Given the description of an element on the screen output the (x, y) to click on. 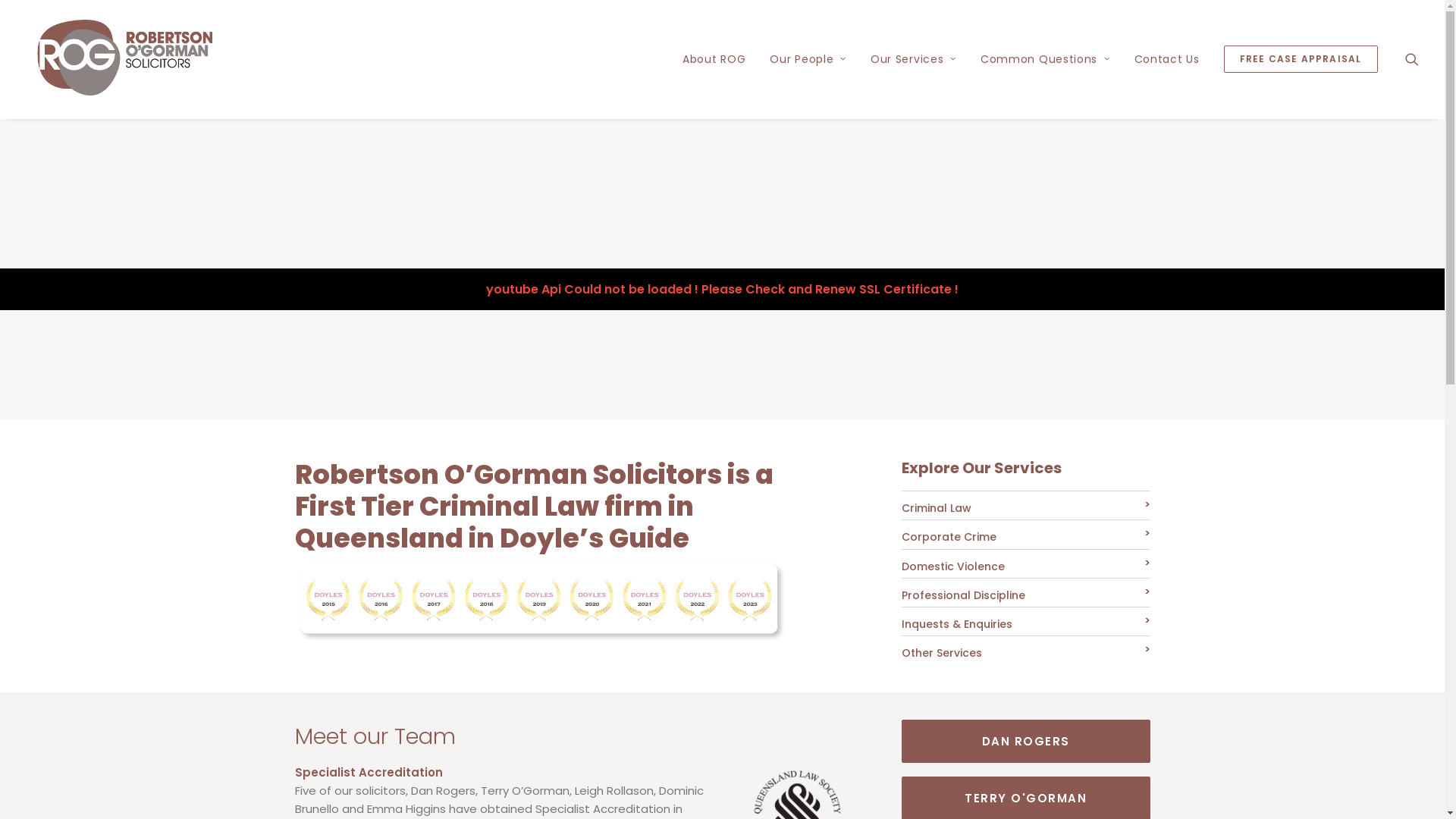
Our People Element type: text (807, 59)
Inquests & Enquiries Element type: text (955, 623)
Criminal Law Element type: text (935, 507)
FREE CASE APPRAISAL Element type: text (1295, 58)
Professional Discipline Element type: text (962, 594)
Corporate Crime Element type: text (947, 536)
About ROG Element type: text (713, 59)
Common Questions Element type: text (1044, 59)
Our Services Element type: text (912, 59)
Other Services Element type: text (940, 652)
Domestic Violence Element type: text (952, 565)
Contact Us Element type: text (1166, 59)
DAN ROGERS Element type: text (1024, 740)
